Given the description of an element on the screen output the (x, y) to click on. 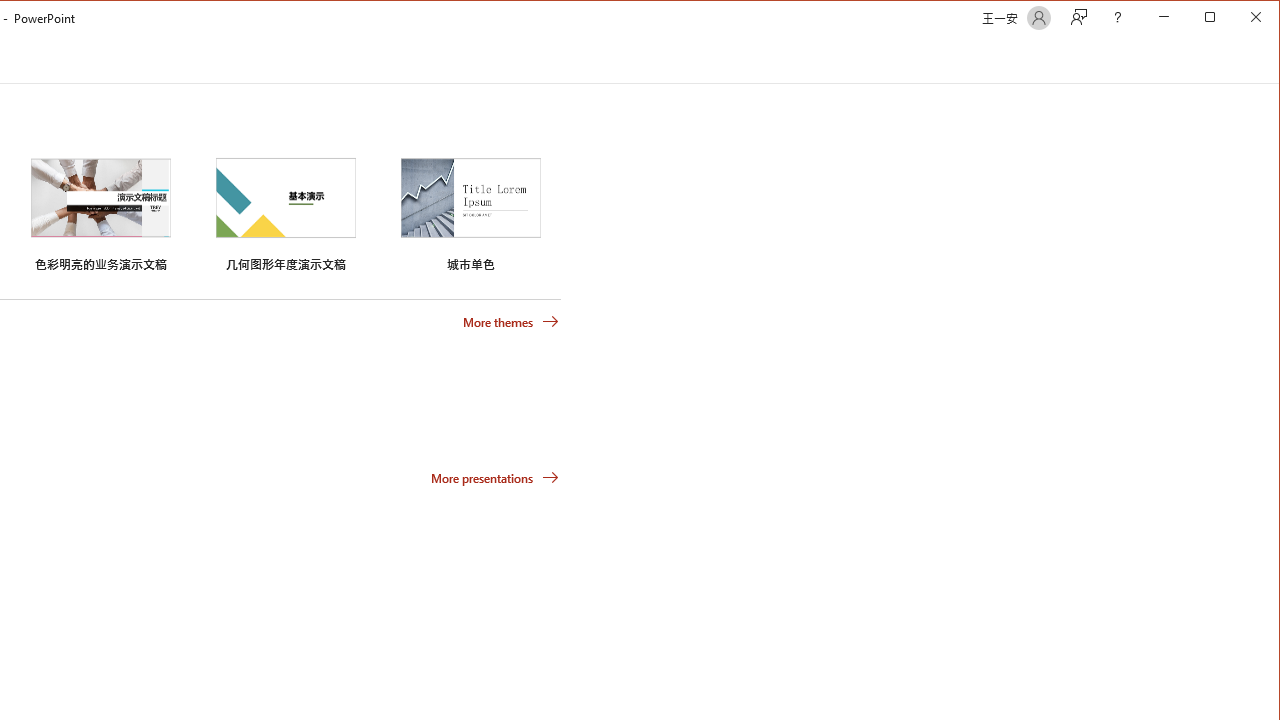
More presentations (494, 478)
Class: NetUIScrollBar (1270, 60)
More themes (510, 321)
Maximize (1238, 18)
